Given the description of an element on the screen output the (x, y) to click on. 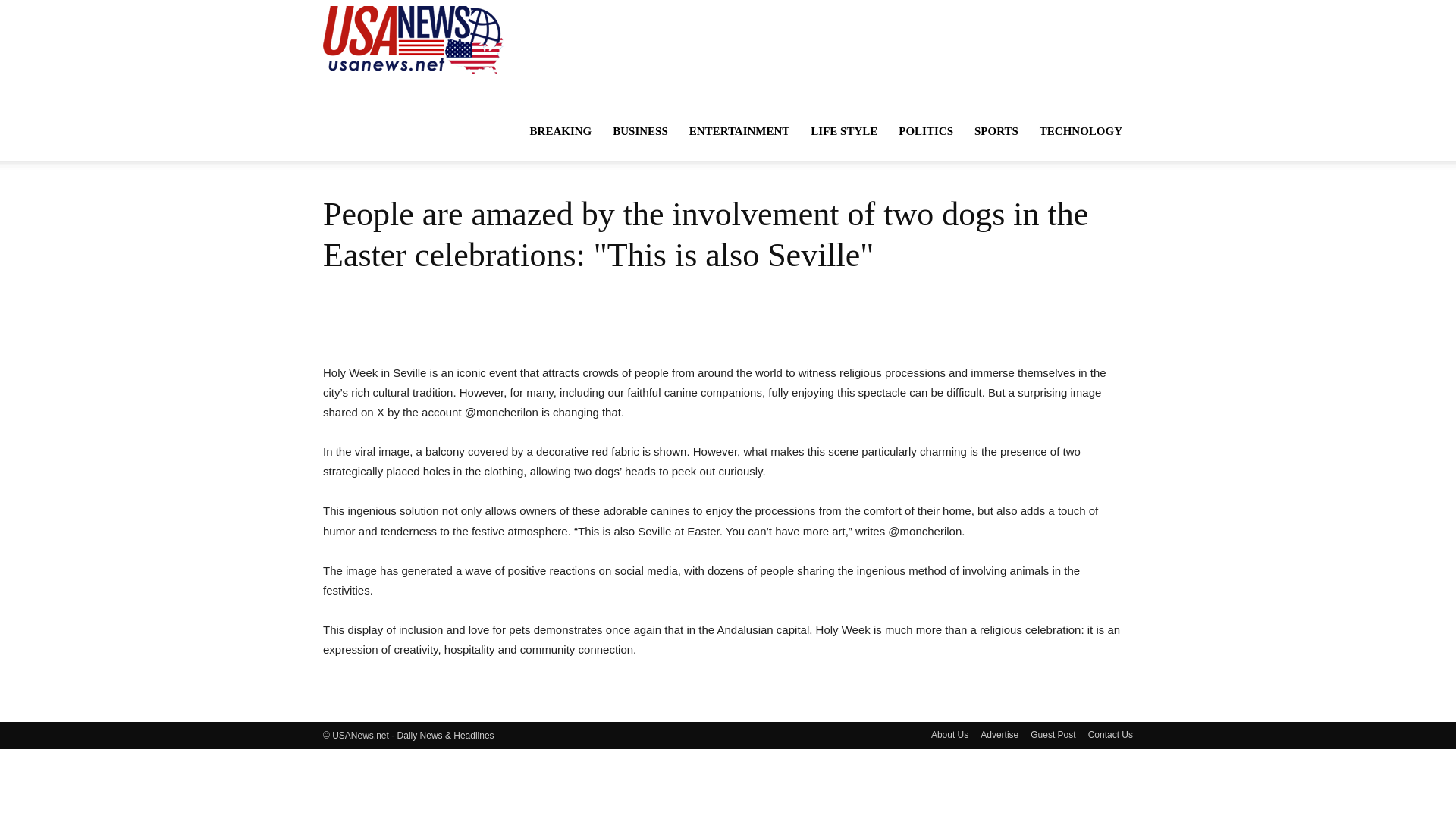
ENTERTAINMENT (739, 130)
Guest Post (1052, 735)
POLITICS (925, 130)
Headlines from America (413, 39)
LIFE STYLE (843, 130)
SPORTS (996, 130)
Daily News and Headlines from US (413, 39)
BREAKING (560, 130)
TECHNOLOGY (1080, 130)
Advertise (998, 735)
BUSINESS (640, 130)
About Us (949, 735)
Contact Us (1109, 735)
